Given the description of an element on the screen output the (x, y) to click on. 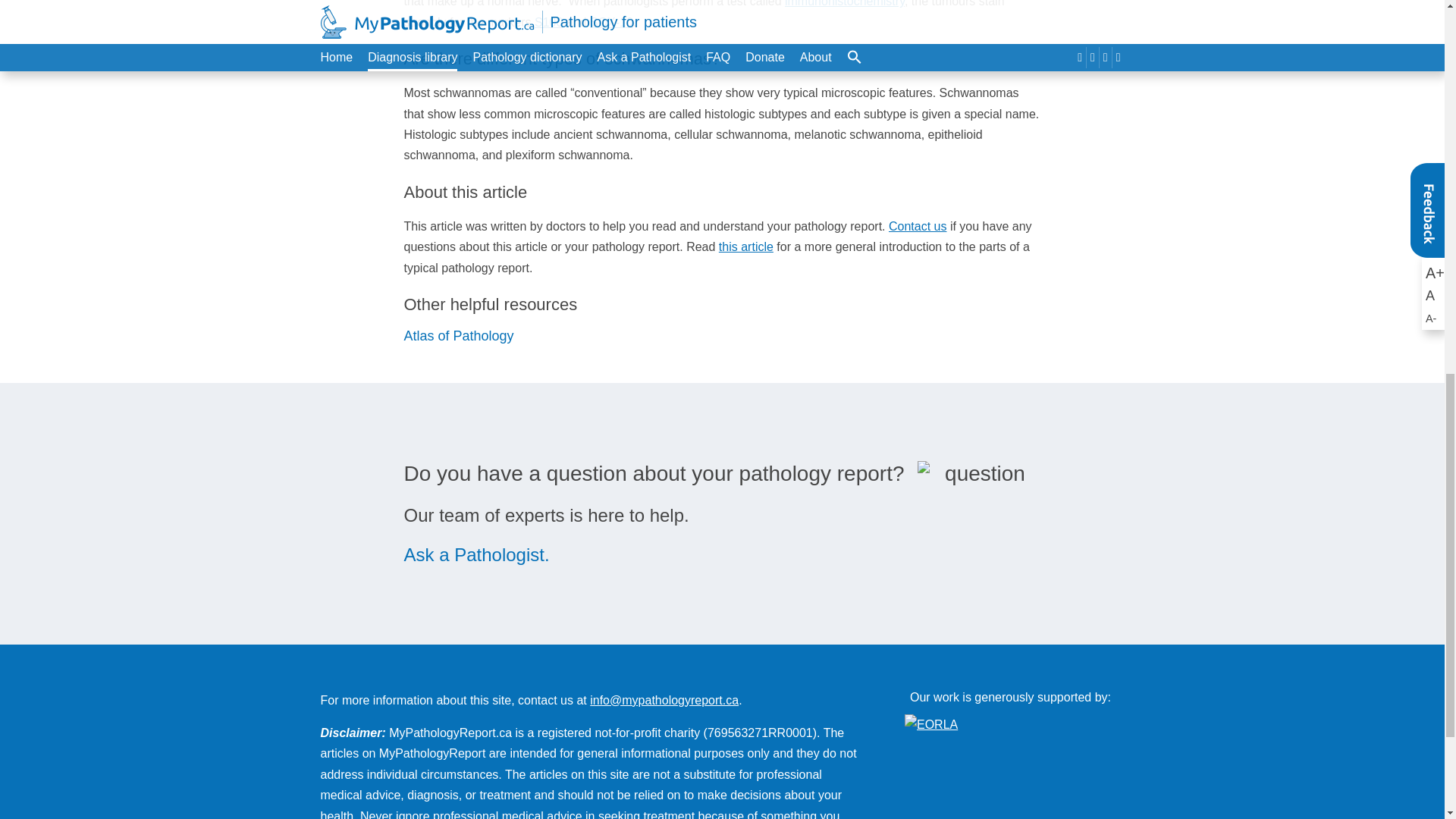
S100 (548, 21)
immunohistochemistry (844, 3)
this article (746, 246)
SOX-10 (611, 21)
Atlas of Pathology (458, 335)
Contact us (917, 226)
Ask a Pathologist. (475, 554)
